Given the description of an element on the screen output the (x, y) to click on. 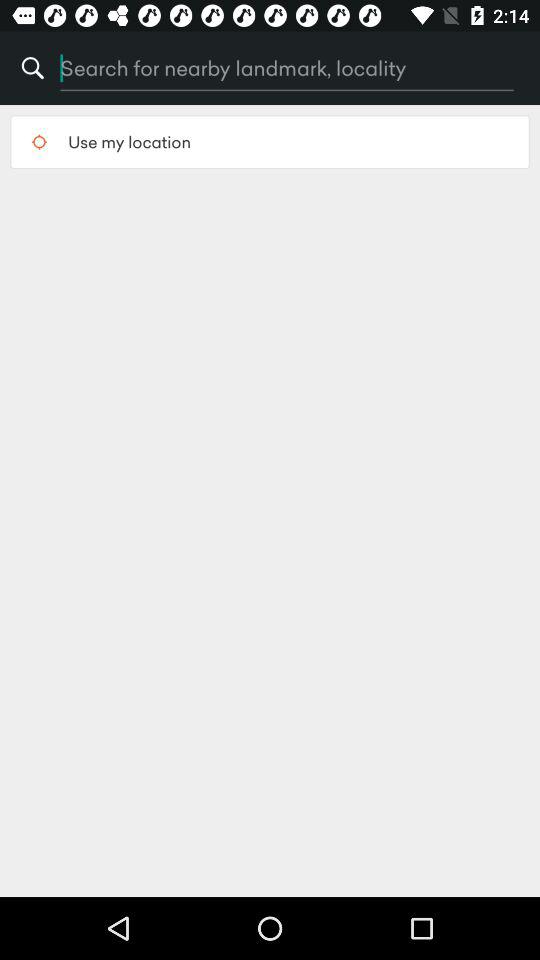
press icon next to the % item (243, 68)
